Given the description of an element on the screen output the (x, y) to click on. 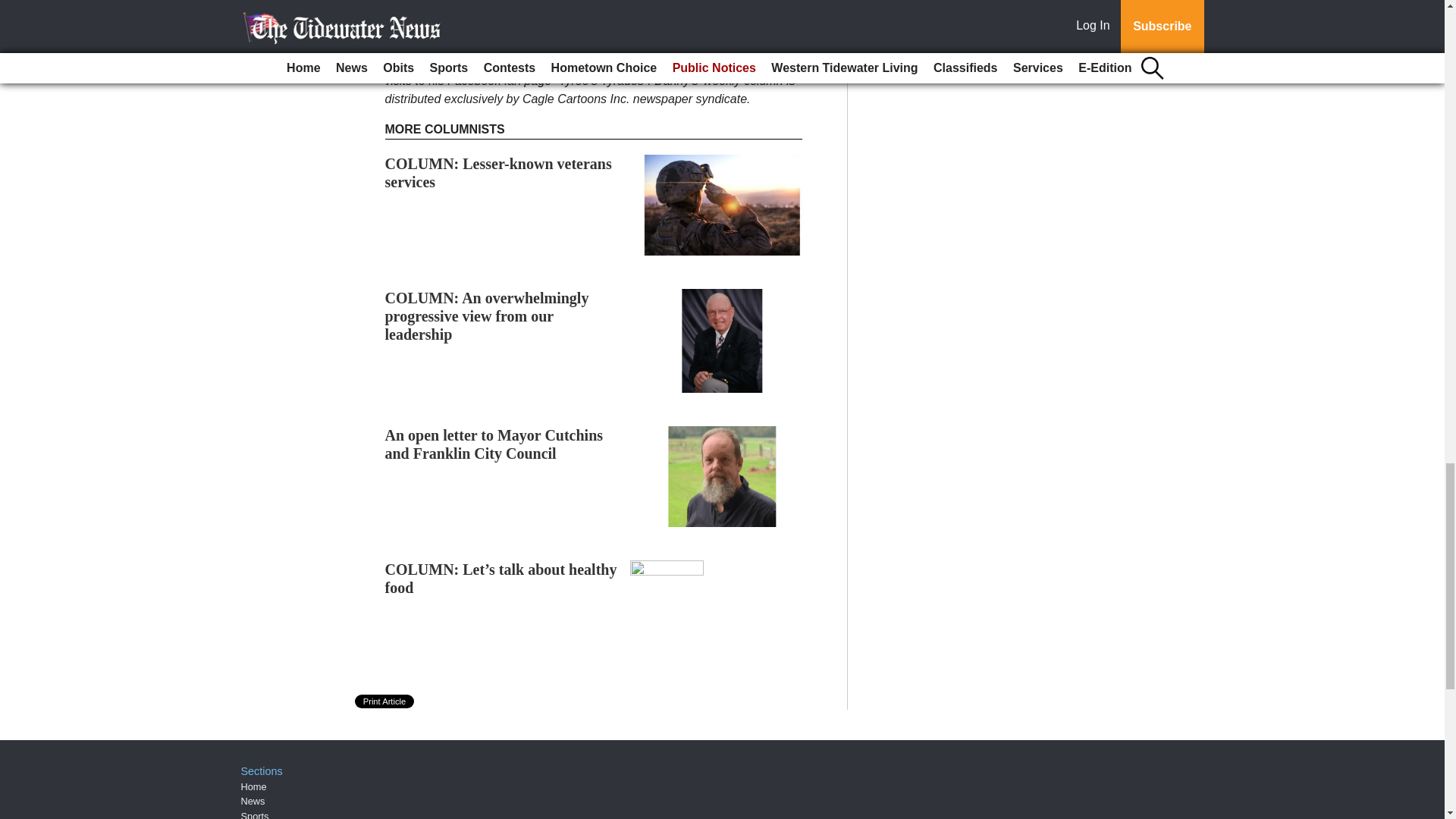
COLUMN: Lesser-known veterans services (498, 172)
COLUMN: Lesser-known veterans services (498, 172)
An open letter to Mayor Cutchins and Franklin City Council (494, 443)
